Given the description of an element on the screen output the (x, y) to click on. 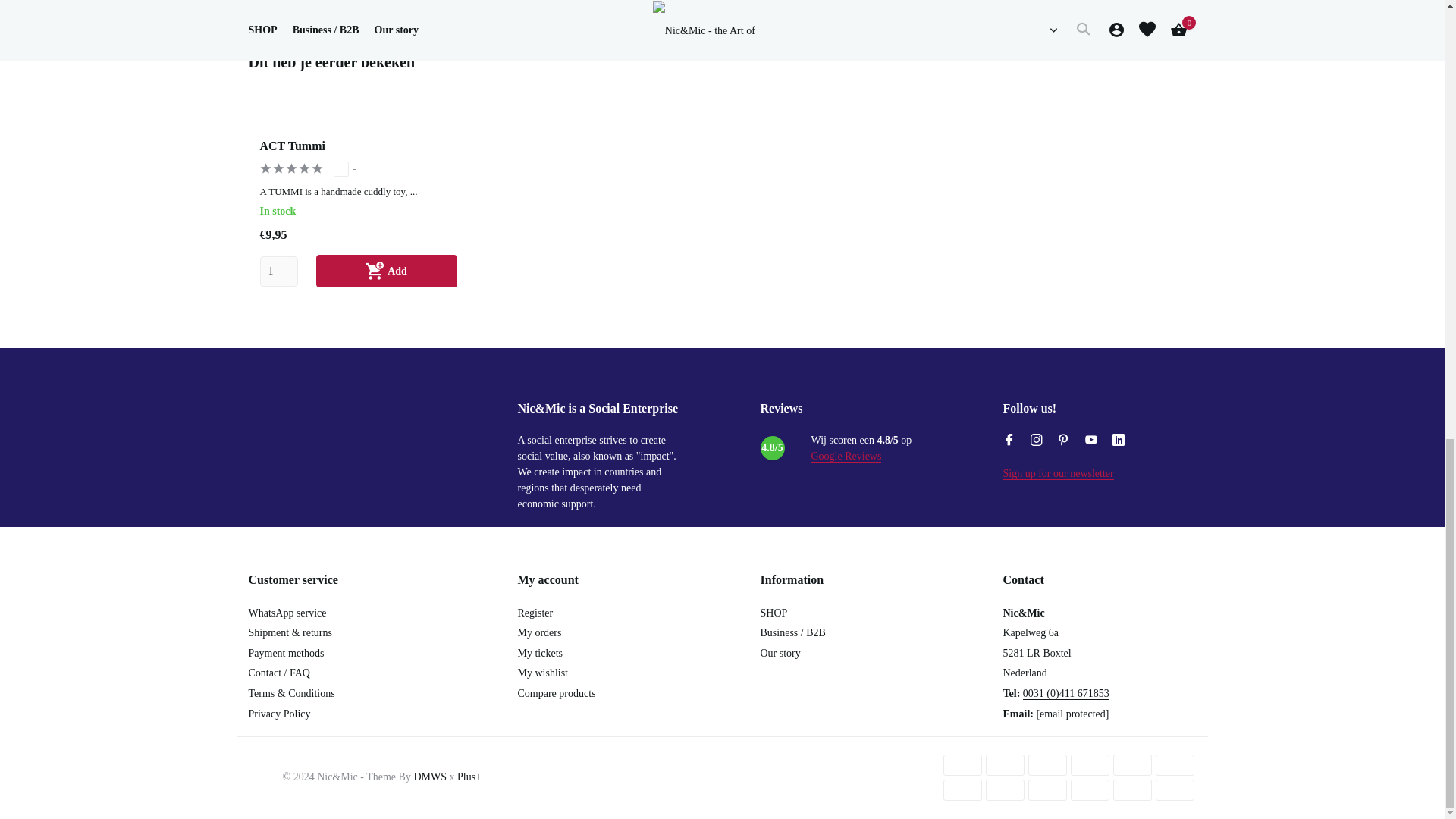
linkedin2 (1118, 439)
1 (278, 271)
